Given the description of an element on the screen output the (x, y) to click on. 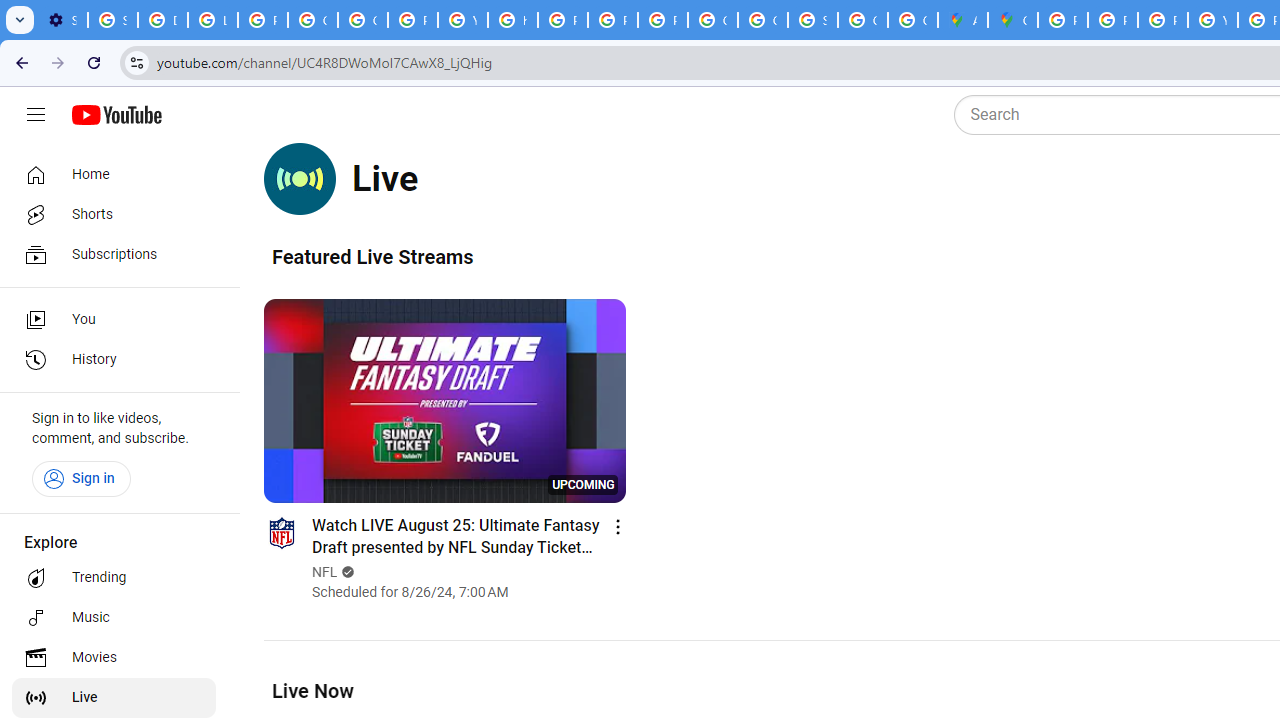
Privacy Help Center - Policies Help (1112, 20)
Delete photos & videos - Computer - Google Photos Help (163, 20)
Home (113, 174)
Go to channel (281, 532)
Google Maps (1013, 20)
Verified (345, 572)
Featured Live Streams (372, 256)
Movies (113, 657)
Settings - On startup (62, 20)
Guide (35, 115)
